Given the description of an element on the screen output the (x, y) to click on. 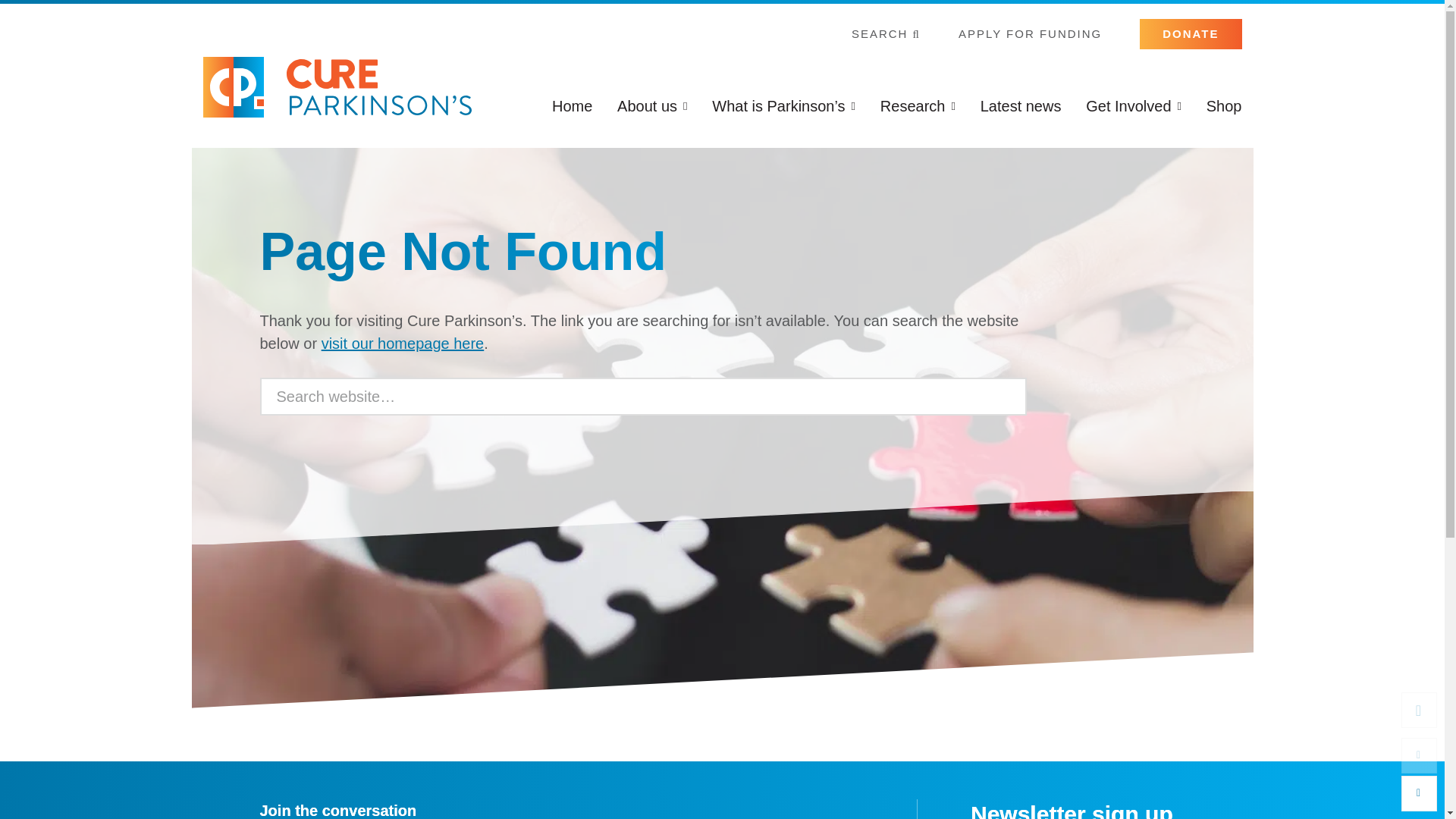
Search for: (642, 396)
APPLY FOR FUNDING (1030, 33)
Home (571, 105)
SEARCH (885, 33)
Shop (1224, 105)
Get Involved (1133, 105)
DONATE (1190, 33)
Latest news (1020, 105)
visit our homepage here (402, 343)
Research (917, 105)
About us (652, 105)
